Given the description of an element on the screen output the (x, y) to click on. 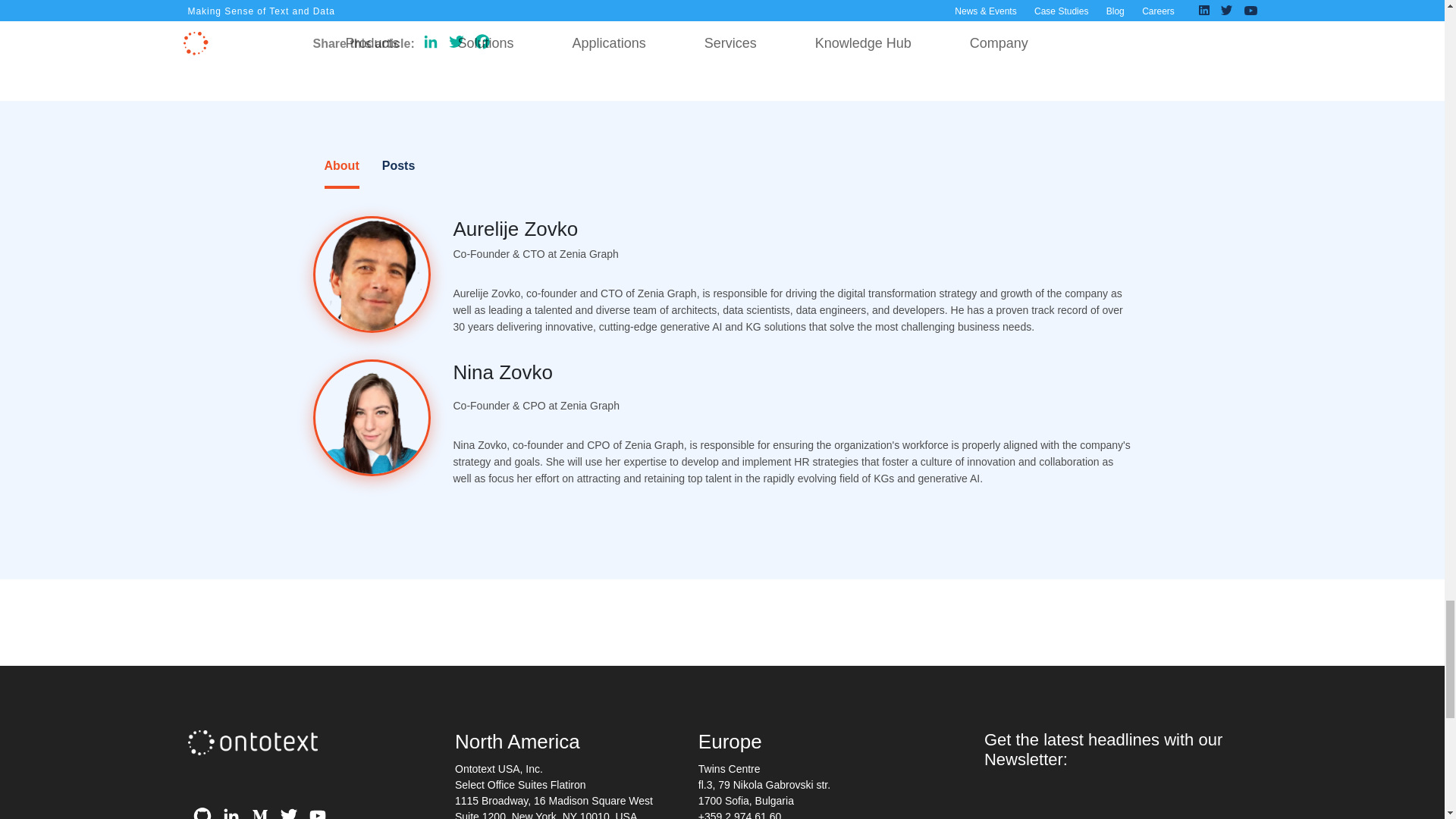
LinkedIn (430, 44)
LinkedIn Company (231, 811)
YouTube (316, 811)
Twitter (288, 811)
Facebook (481, 44)
GitHub (201, 811)
Twitter (456, 44)
Medium (260, 811)
Posts by Aurelije Zovko (515, 228)
